Given the description of an element on the screen output the (x, y) to click on. 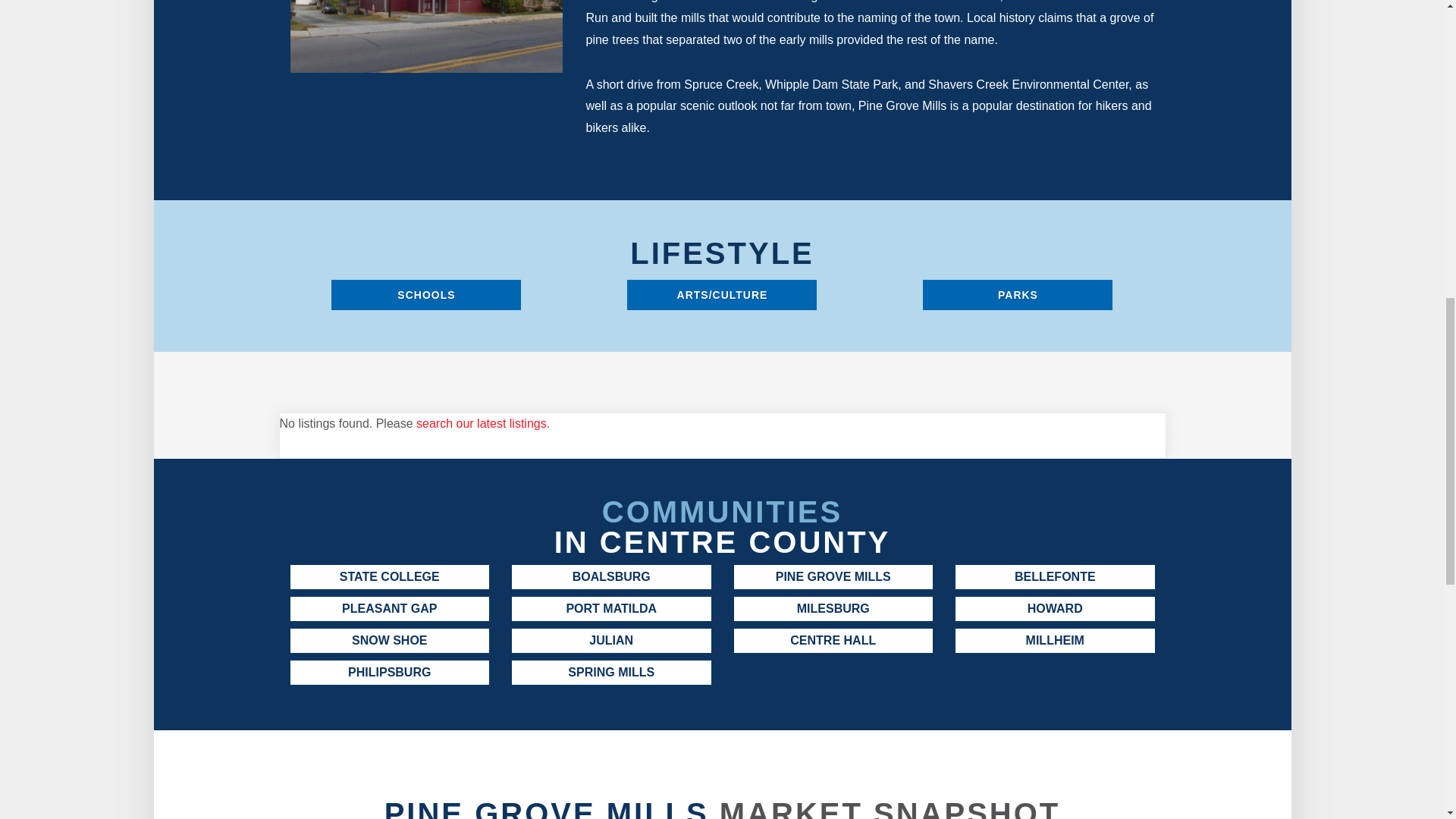
CENTRE HALL (833, 640)
BELLEFONTE (1054, 576)
MILLHEIM (1054, 640)
HOWARD (1054, 608)
SPRING MILLS (611, 672)
SNOW SHOE (389, 640)
PARKS (1017, 295)
MILESBURG (833, 608)
PINE GROVE MILLS (833, 576)
PORT MATILDA (611, 608)
